Given the description of an element on the screen output the (x, y) to click on. 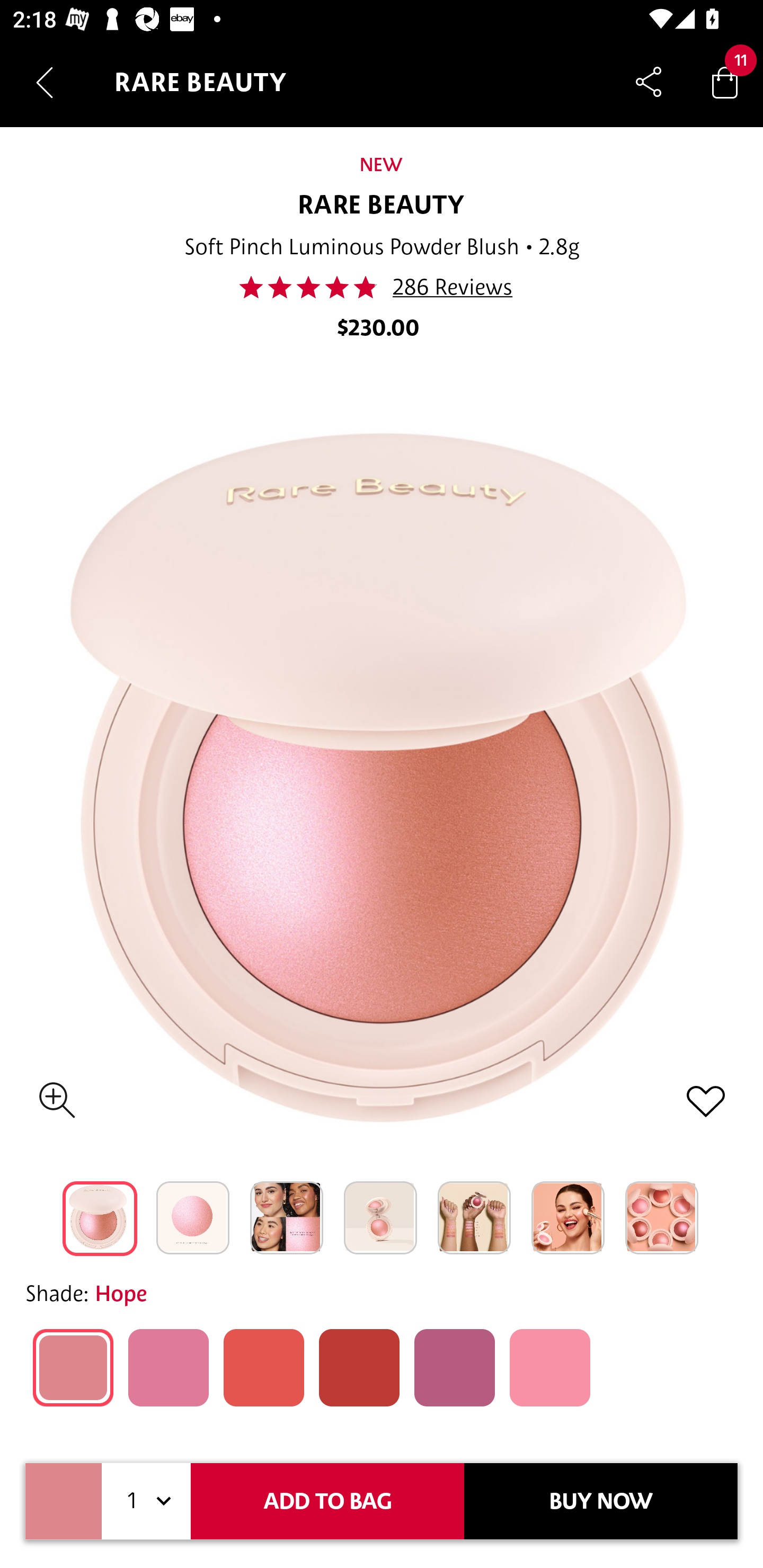
Navigate up (44, 82)
Share (648, 81)
Bag (724, 81)
RARE BEAUTY (381, 205)
48.0 286 Reviews (380, 286)
1 (145, 1500)
ADD TO BAG (326, 1500)
BUY NOW (600, 1500)
